Given the description of an element on the screen output the (x, y) to click on. 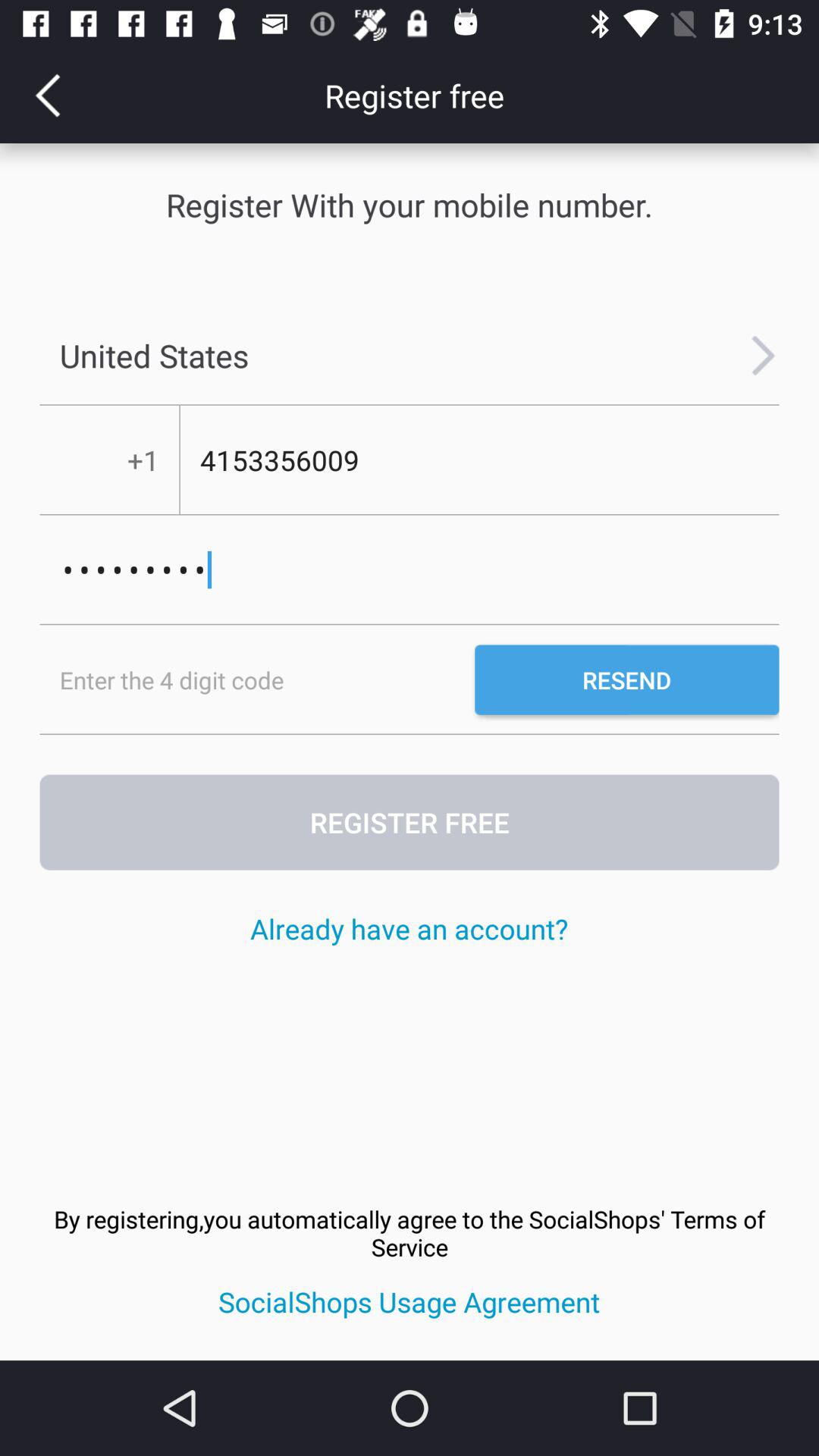
tap item on the right (626, 679)
